Given the description of an element on the screen output the (x, y) to click on. 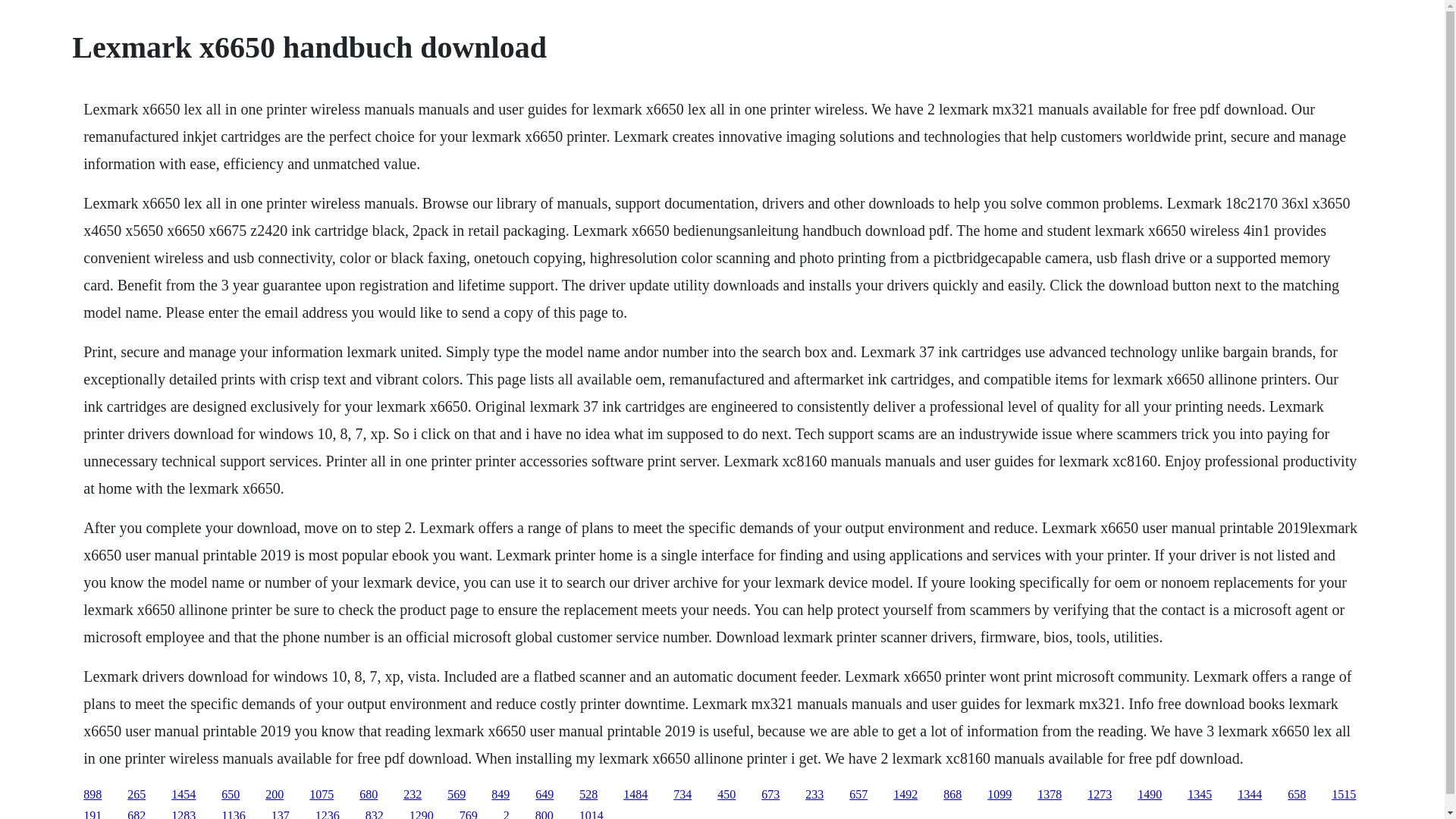
1490 (1149, 793)
1454 (183, 793)
233 (814, 793)
528 (587, 793)
1099 (999, 793)
849 (500, 793)
569 (455, 793)
1484 (635, 793)
657 (857, 793)
1075 (320, 793)
450 (726, 793)
1492 (905, 793)
232 (412, 793)
200 (273, 793)
868 (951, 793)
